Given the description of an element on the screen output the (x, y) to click on. 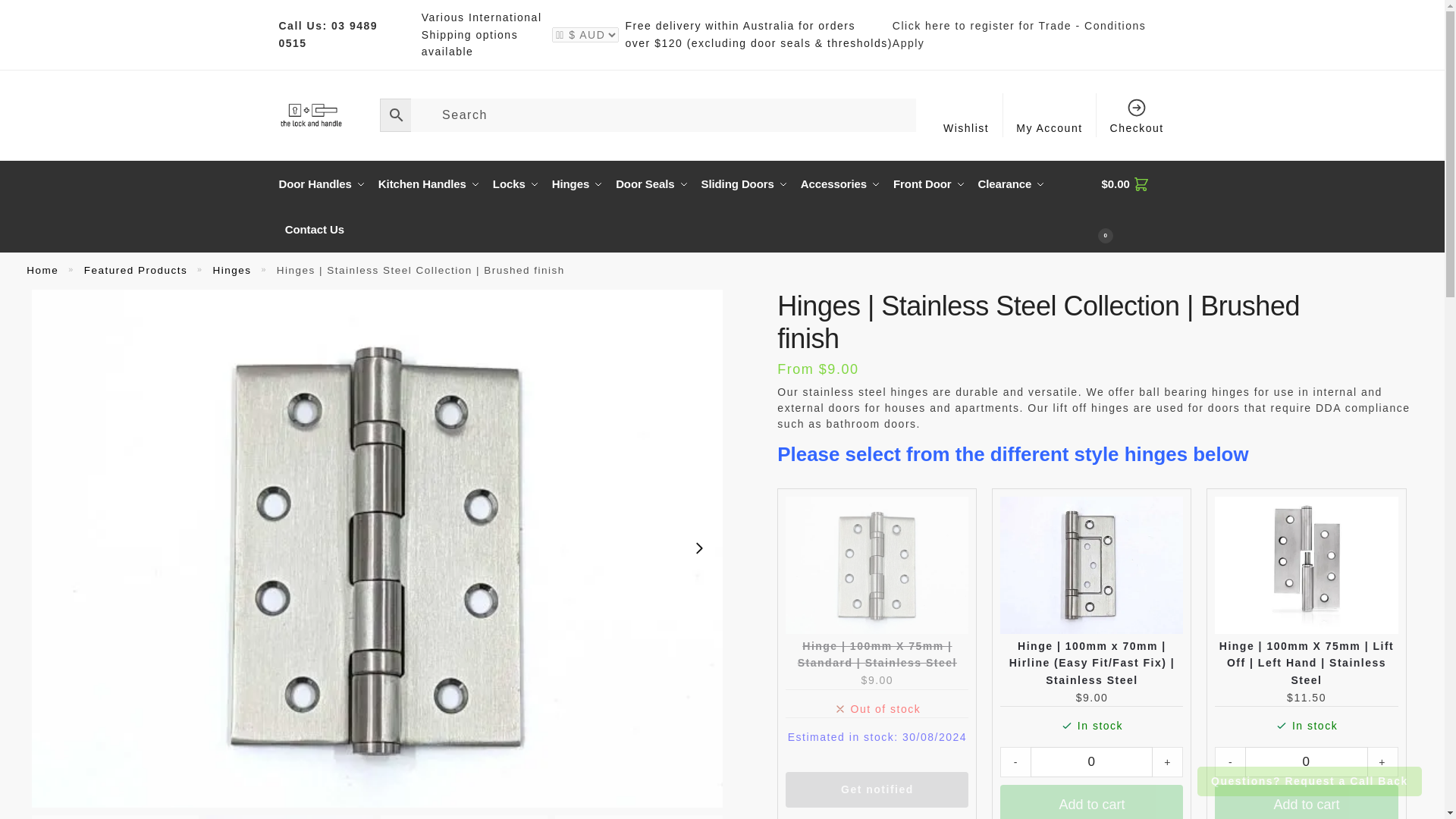
Click here to register for Trade - Conditions Apply (1029, 34)
Call Us: 03 9489 0515 (328, 34)
left-hand-swing-image (463, 816)
0 (1091, 761)
Stainless Hinge (115, 816)
Door Handles (325, 184)
Stainless Hirline Hinge (289, 816)
0 (1305, 761)
View your shopping cart (1134, 206)
Checkout (1136, 115)
Wishlist (966, 115)
My Account (1049, 115)
Get notified (877, 789)
right-hand-swing-image (638, 816)
